Given the description of an element on the screen output the (x, y) to click on. 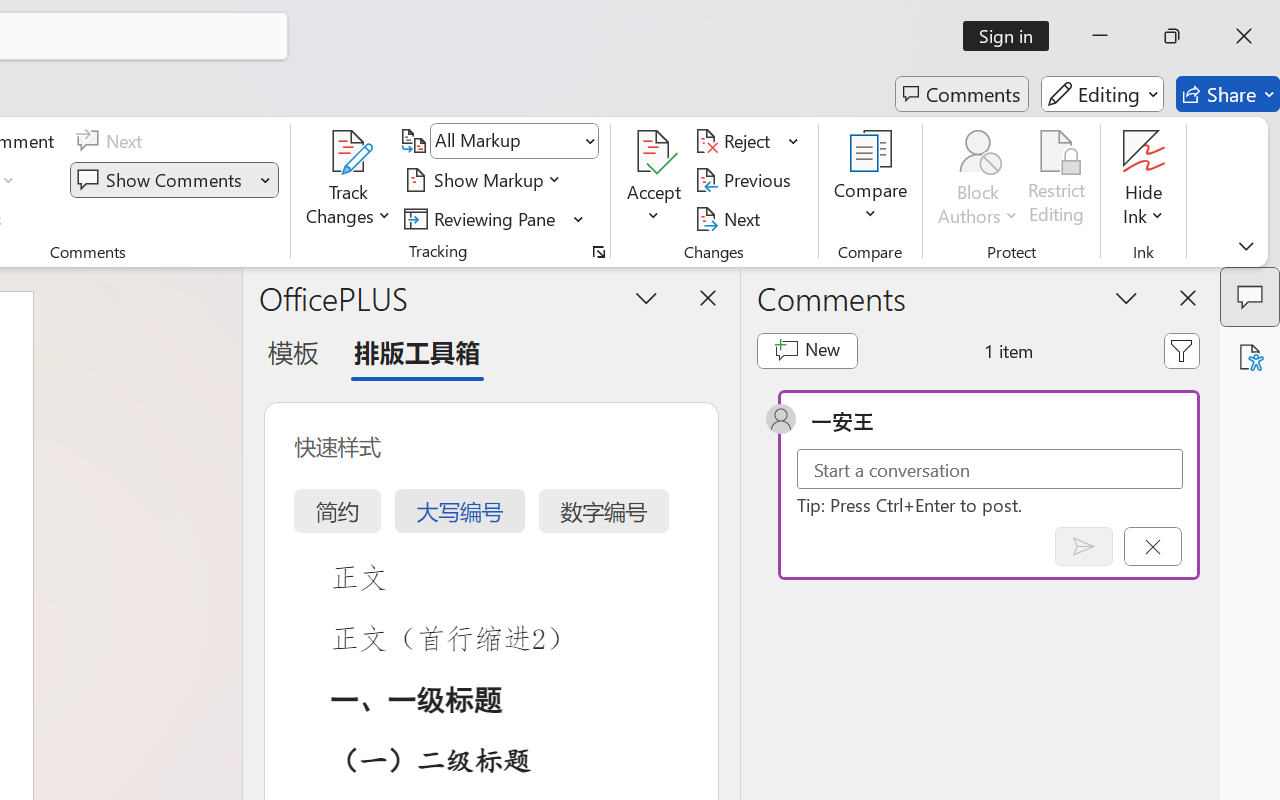
Compare (870, 179)
Display for Review (514, 141)
Accessibility Assistant (1249, 357)
Reviewing Pane (483, 218)
Hide Ink (1144, 179)
Filter (1181, 350)
Previous (745, 179)
Block Authors (977, 151)
Track Changes (349, 179)
Restrict Editing (1057, 179)
